Given the description of an element on the screen output the (x, y) to click on. 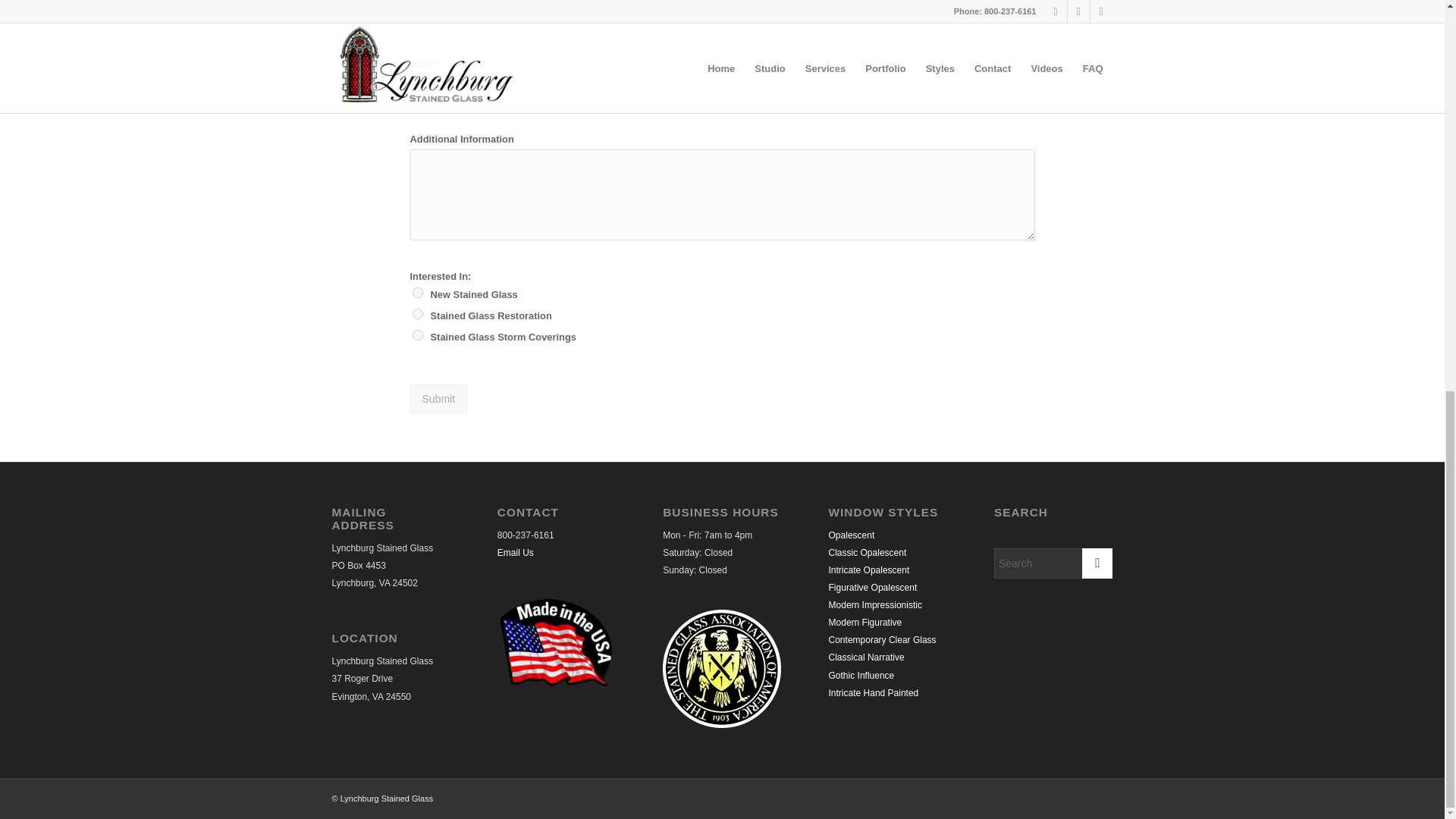
New Stained Glass (417, 292)
Click to start search (1096, 562)
Stained Glass Restoration (417, 313)
Stained Glass Storm Coverings (417, 335)
